Given the description of an element on the screen output the (x, y) to click on. 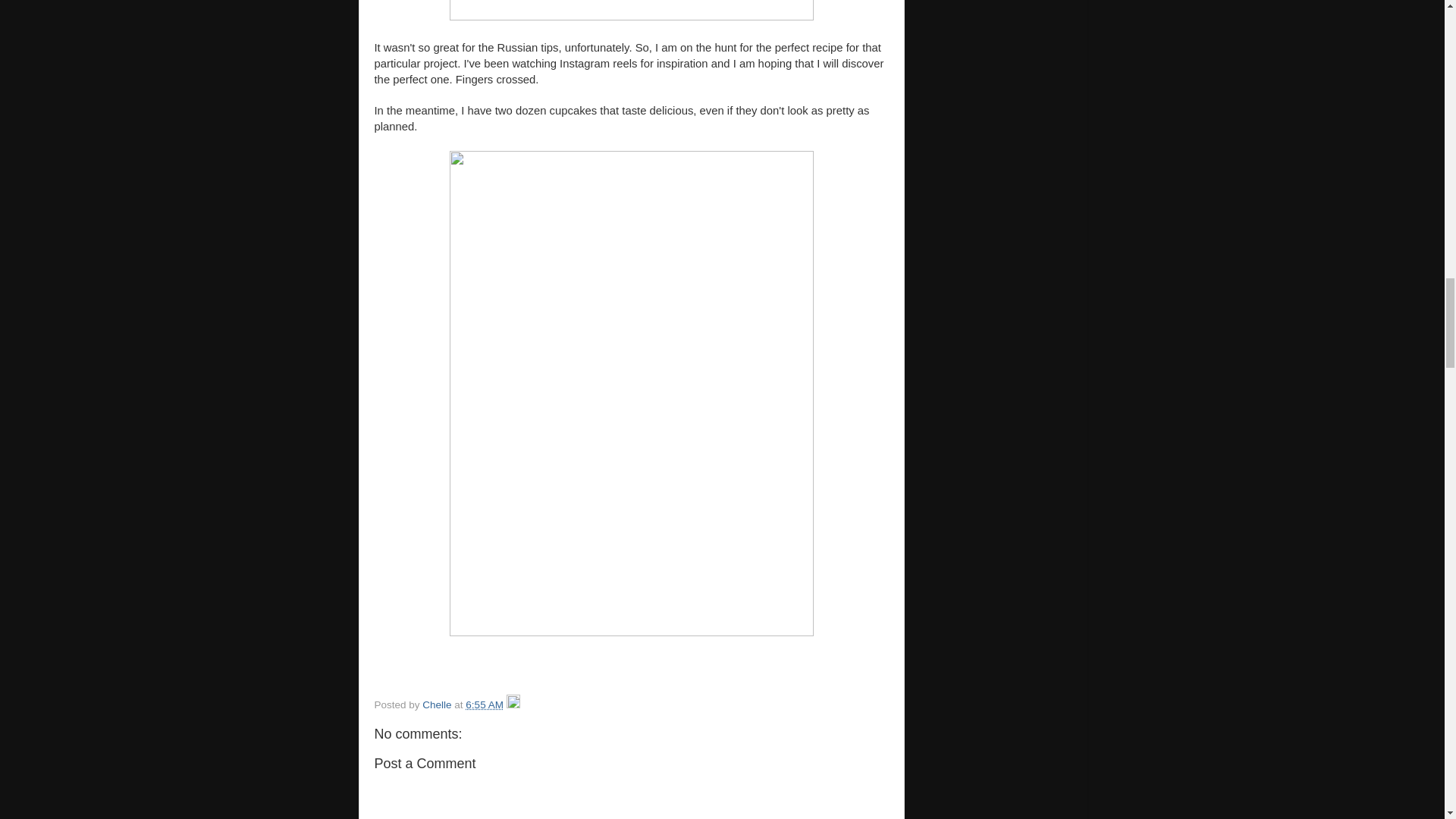
Chelle (438, 704)
permanent link (484, 704)
Edit Post (512, 704)
author profile (438, 704)
6:55 AM (484, 704)
